Given the description of an element on the screen output the (x, y) to click on. 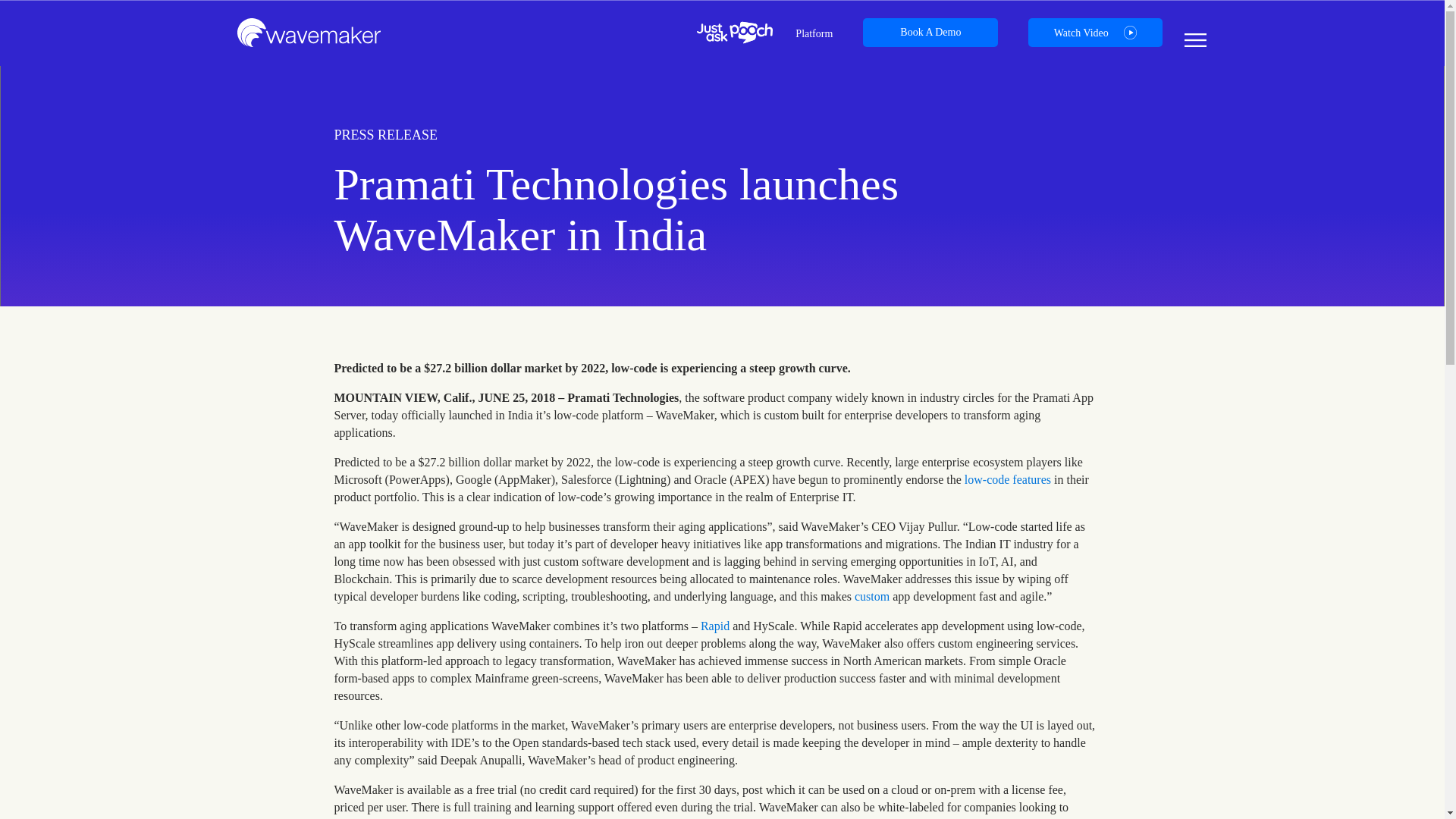
Book A Demo (930, 32)
Platform (813, 32)
Watch Video (1094, 32)
